Given the description of an element on the screen output the (x, y) to click on. 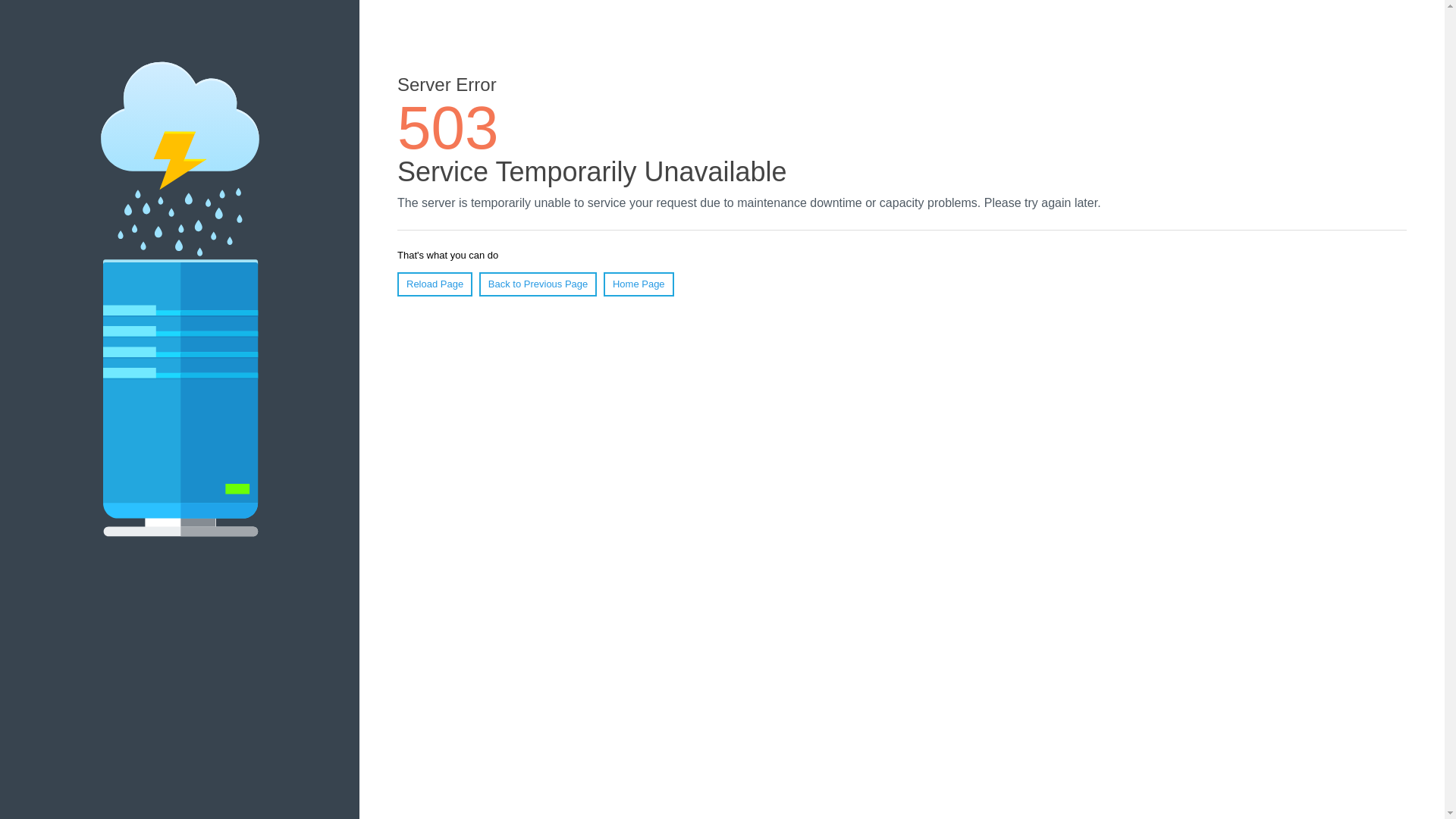
Reload Page Element type: text (434, 284)
Back to Previous Page Element type: text (538, 284)
Home Page Element type: text (638, 284)
